Given the description of an element on the screen output the (x, y) to click on. 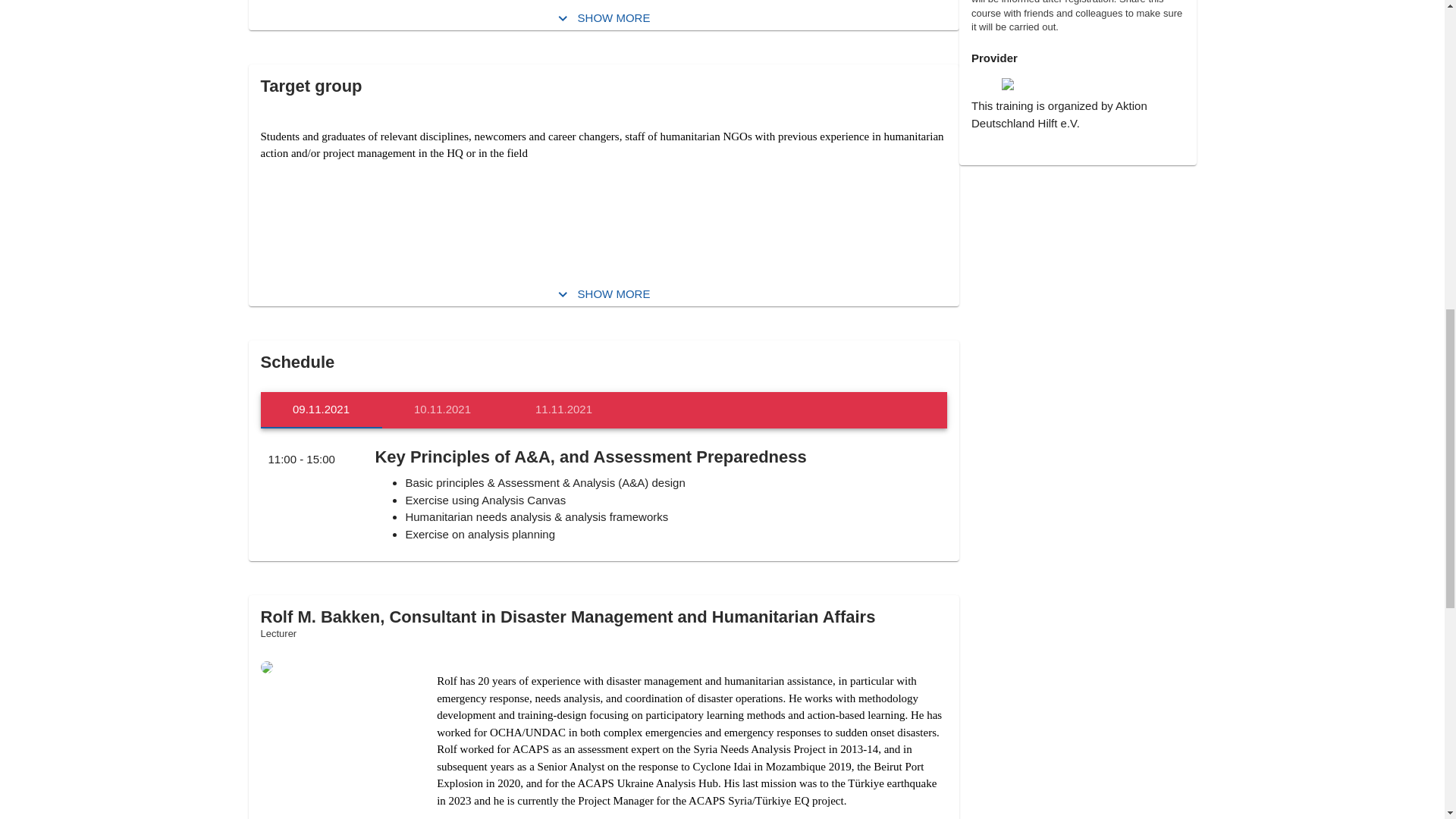
SHOW MORE (603, 17)
10.11.2021 (603, 410)
11.11.2021 (442, 410)
SHOW MORE (563, 410)
09.11.2021 (603, 294)
